Given the description of an element on the screen output the (x, y) to click on. 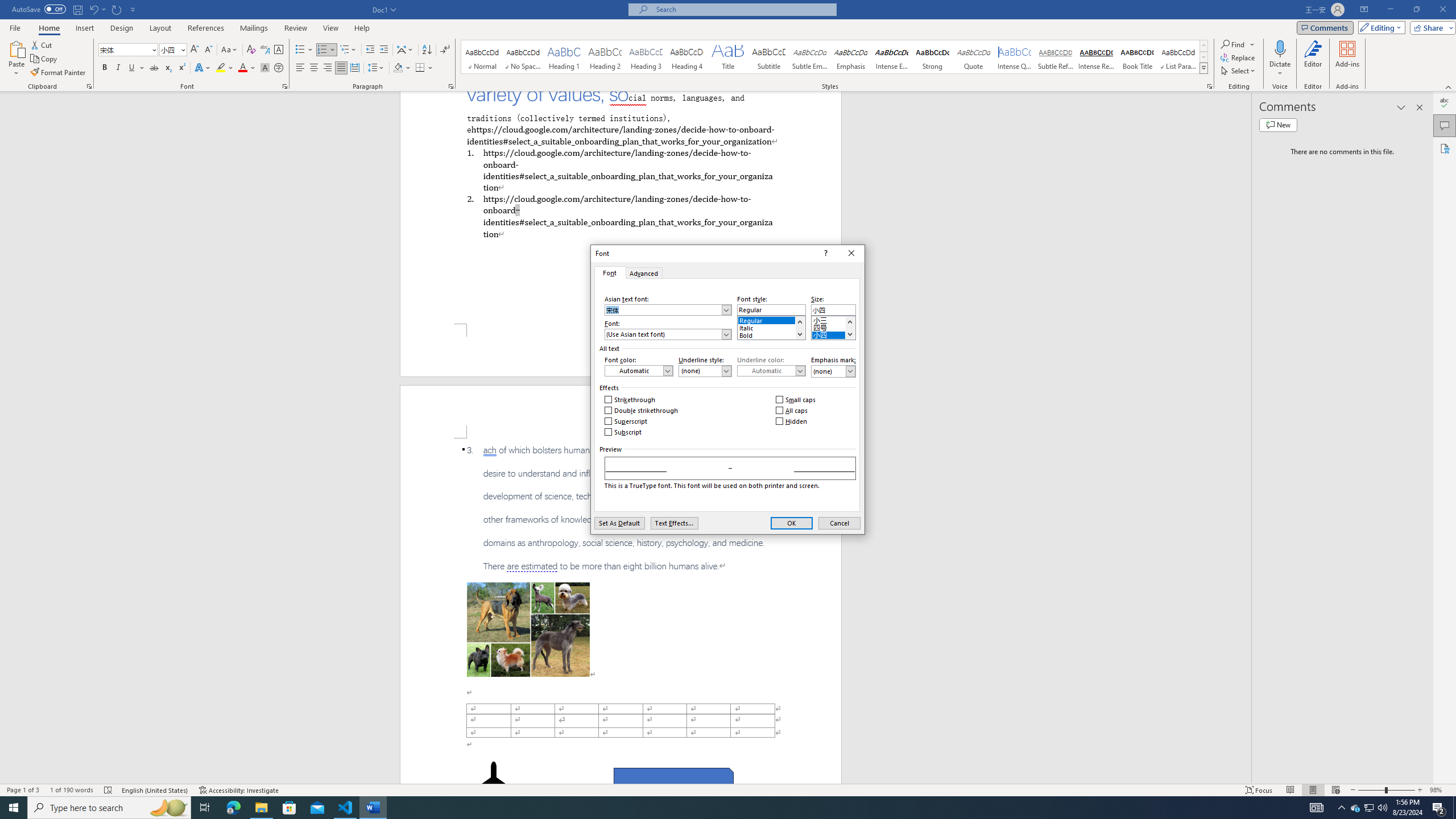
Center (313, 67)
Font Color (246, 67)
Zoom Out (1371, 790)
Asian Layout (405, 49)
Running applications (717, 807)
Accessibility Checker Accessibility: Investigate (239, 790)
Customize Quick Access Toolbar (133, 9)
Paste (16, 58)
Align Right (327, 67)
Justify (340, 67)
Page Number Page 1 of 3 (22, 790)
Read Mode (1290, 790)
Dictate (1280, 58)
AutomationID: 4105 (1316, 807)
Task Pane Options (1400, 107)
